Given the description of an element on the screen output the (x, y) to click on. 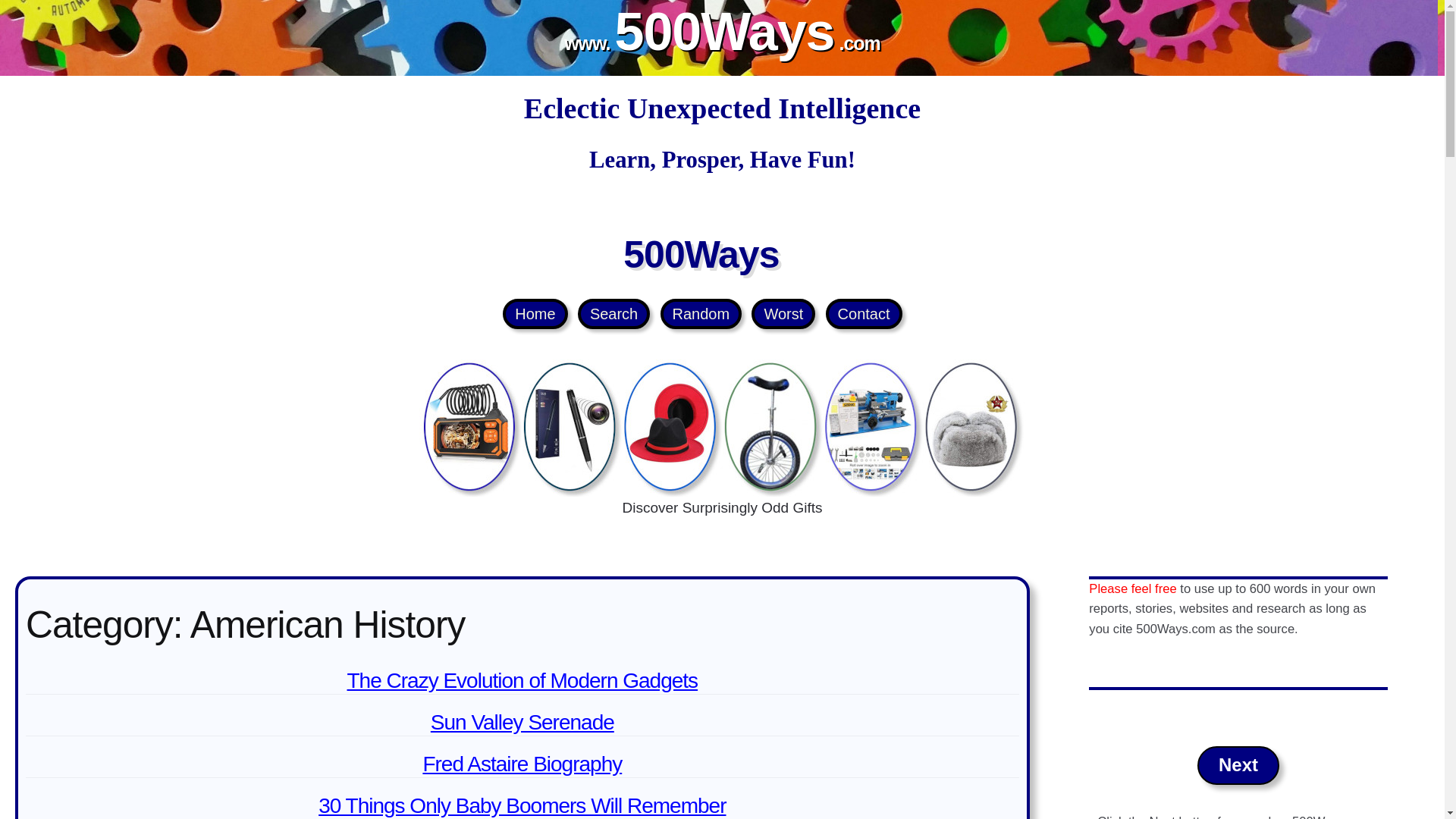
Random (701, 313)
Worst (783, 313)
Contact (863, 313)
Home (534, 313)
The Crazy Evolution of Modern Gadgets (522, 680)
Sun Valley Serenade (522, 721)
Search (613, 313)
500Ways (700, 254)
